Given the description of an element on the screen output the (x, y) to click on. 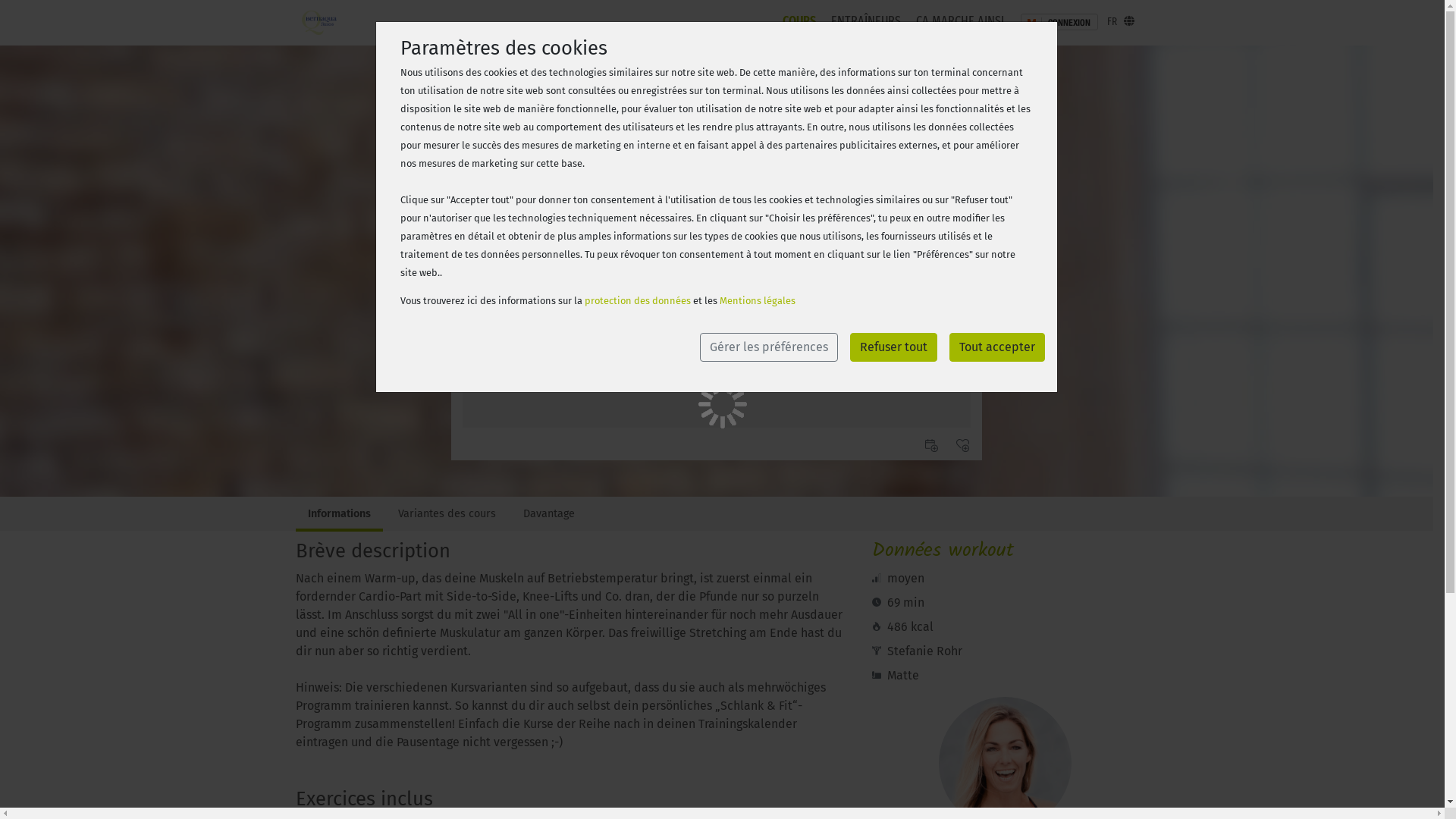
Davantage Element type: text (555, 515)
  Element type: text (968, 448)
Variantes des cours Element type: text (452, 515)
Informations Element type: text (345, 515)
COURS Element type: text (799, 21)
CONNEXION Element type: text (1059, 21)
Se connecter Element type: text (930, 155)
FR   Element type: text (1120, 21)
